Given the description of an element on the screen output the (x, y) to click on. 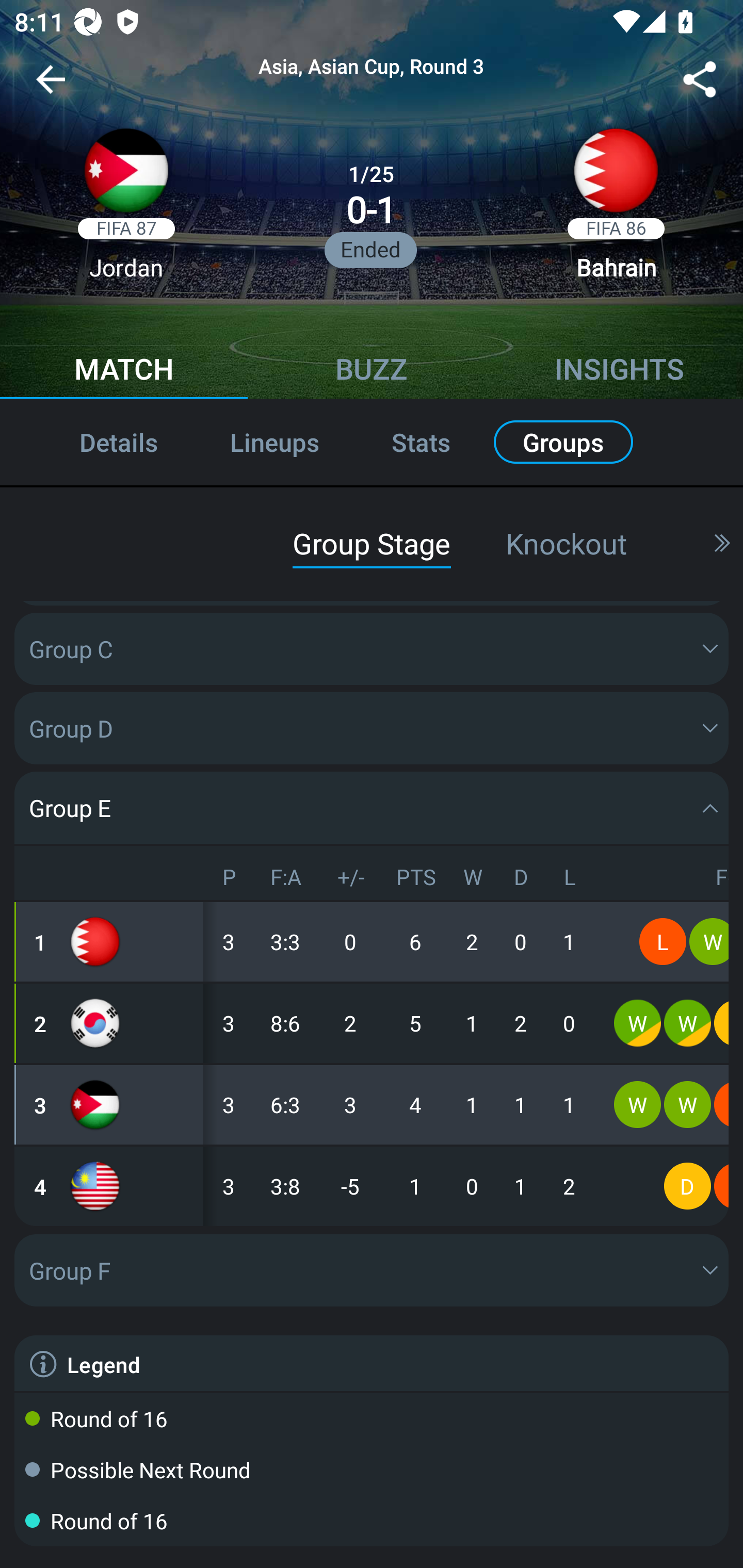
Navigate up (50, 86)
Asia, Asian Cup, Round 3 (371, 66)
Share (699, 82)
FIFA 87 Jordan (126, 210)
FIFA 86 Bahrain (616, 210)
MATCH (123, 371)
BUZZ (371, 371)
INSIGHTS (619, 371)
Details (96, 442)
Lineups (274, 442)
Stats (420, 442)
Knockout (566, 543)
Group B (371, 569)
Group C (371, 649)
Group D (371, 728)
Group E (371, 807)
1 3 3:3 0 6 2 0 1 L W (371, 941)
2 3 8:6 2 5 1 2 0 W W D (371, 1023)
3 3 6:3 3 4 1 1 1 W W L (371, 1104)
4 3 3:8 -5 1 0 1 2 D L (371, 1186)
Group F (371, 1270)
